Given the description of an element on the screen output the (x, y) to click on. 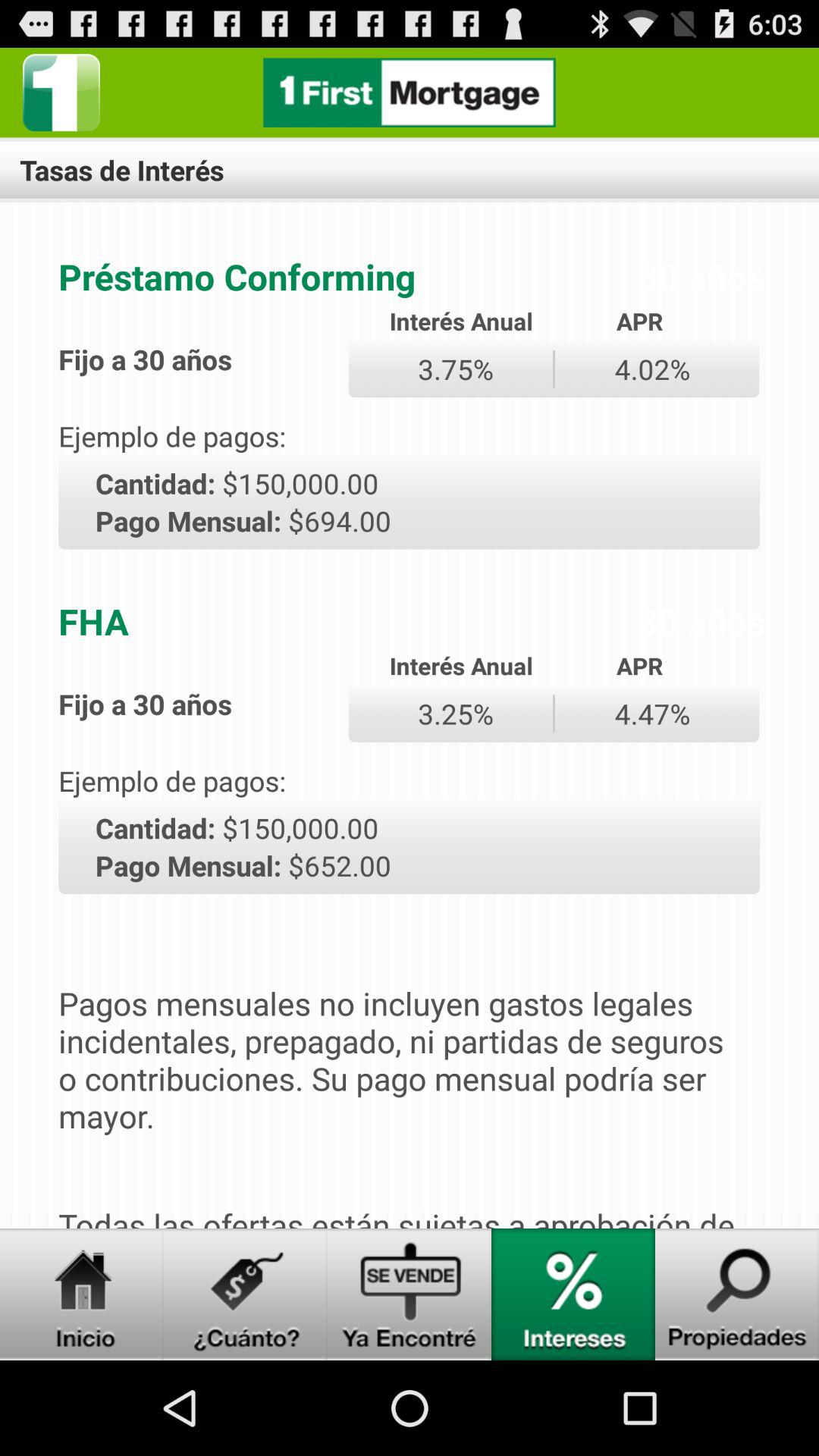
return to home (409, 92)
